Given the description of an element on the screen output the (x, y) to click on. 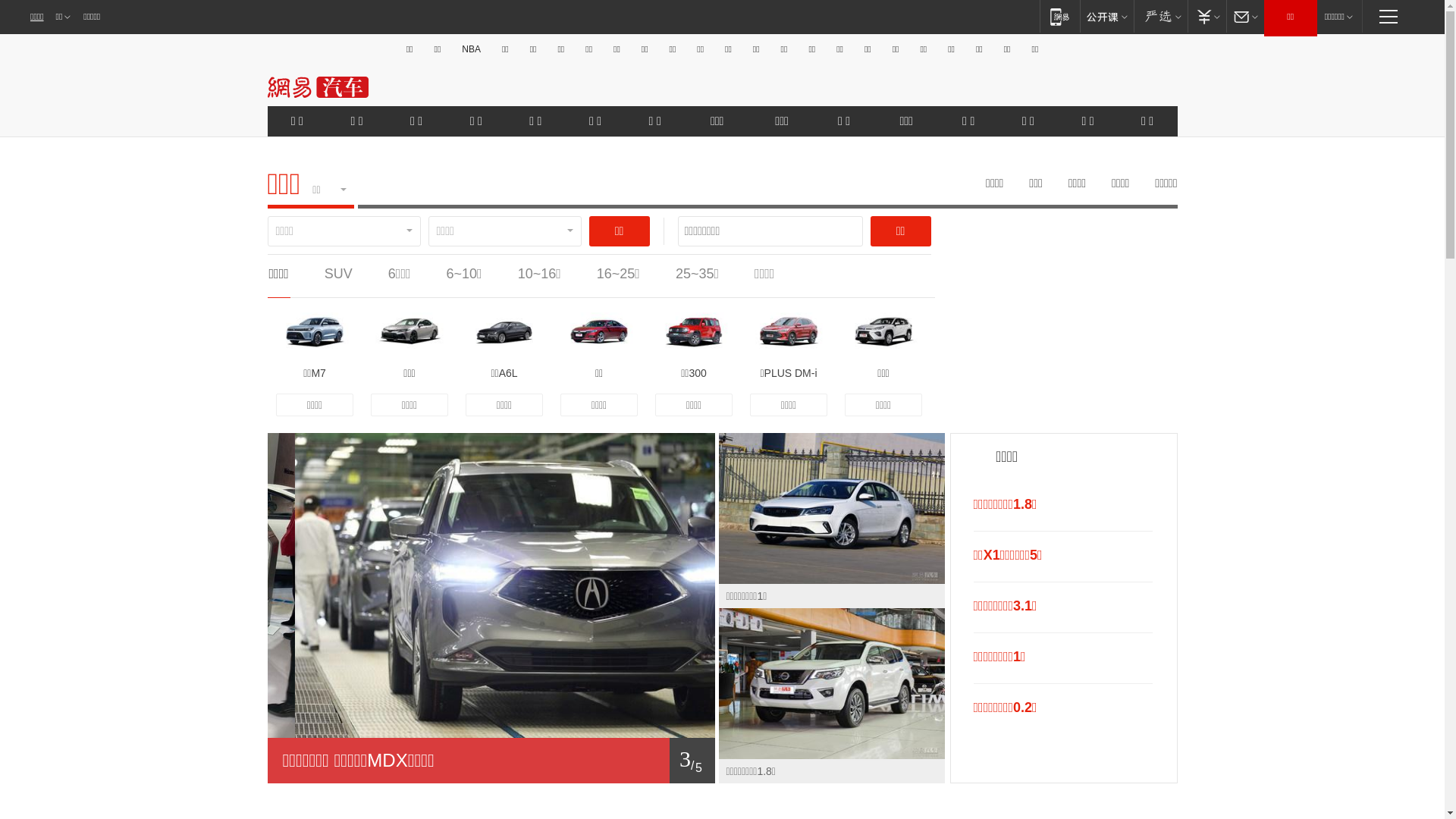
NBA Element type: text (471, 48)
1/ 5 Element type: text (490, 760)
SUV Element type: text (338, 273)
